Given the description of an element on the screen output the (x, y) to click on. 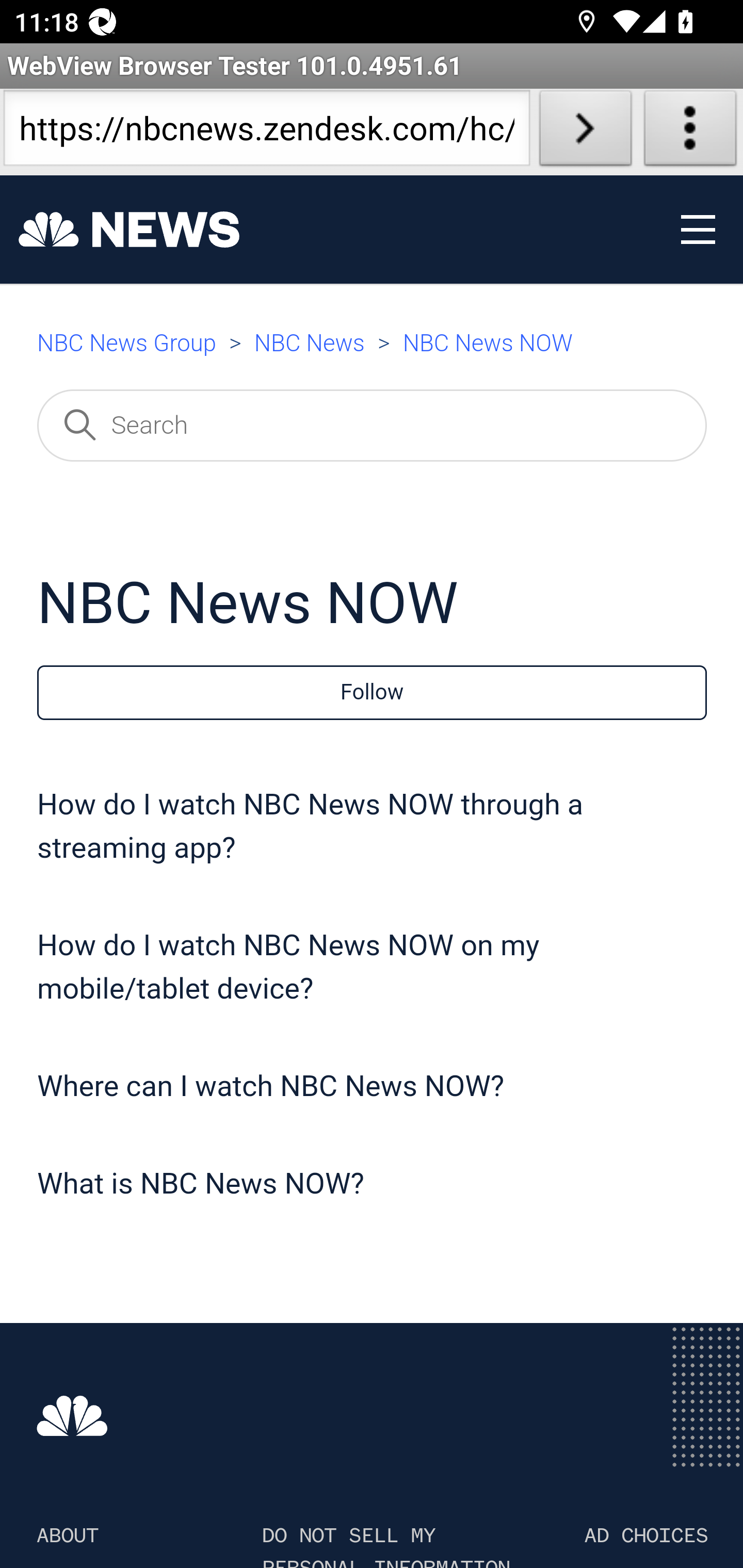
Load URL (585, 132)
About WebView (690, 132)
?icid=nav_bar_logo (128, 230)
sharer (230, 336)
mailto:?subject=&body=null (389, 336)
NBC News Group (126, 343)
NBC News (309, 343)
NBC News NOW (487, 343)
Follow Section (372, 692)
Where can I watch NBC News NOW? (270, 1087)
What is NBC News NOW? (201, 1184)
www.nbcnews (72, 1414)
ABOUT (67, 1535)
AD CHOICES (646, 1535)
